Given the description of an element on the screen output the (x, y) to click on. 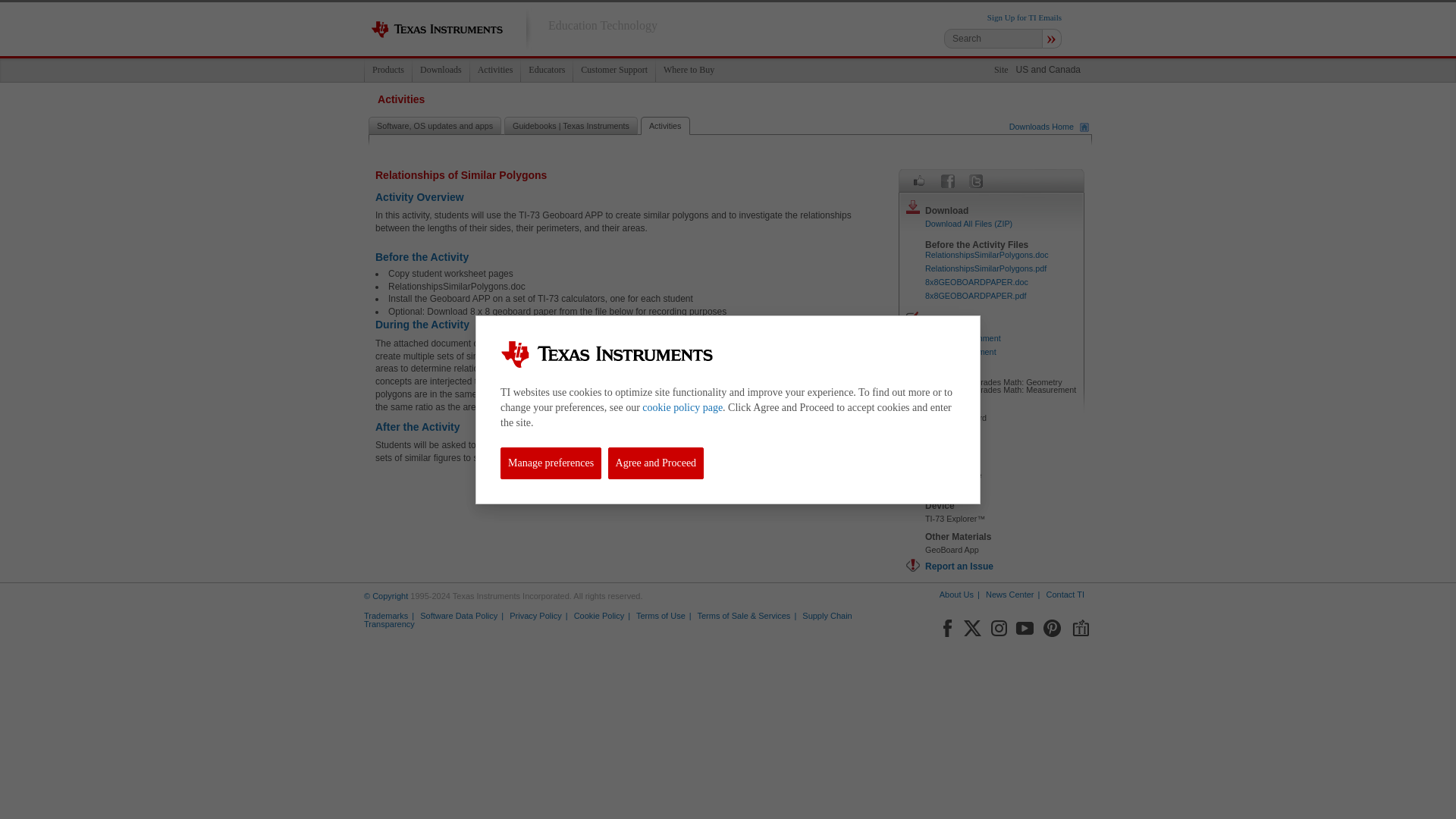
Educators (545, 69)
Products (388, 69)
Activities (494, 69)
Twitter (975, 180)
Instagram (998, 625)
Facebook (946, 625)
Downloads (440, 69)
Facebook (947, 180)
Recommend Activity (919, 180)
Pinterest (1052, 625)
